Given the description of an element on the screen output the (x, y) to click on. 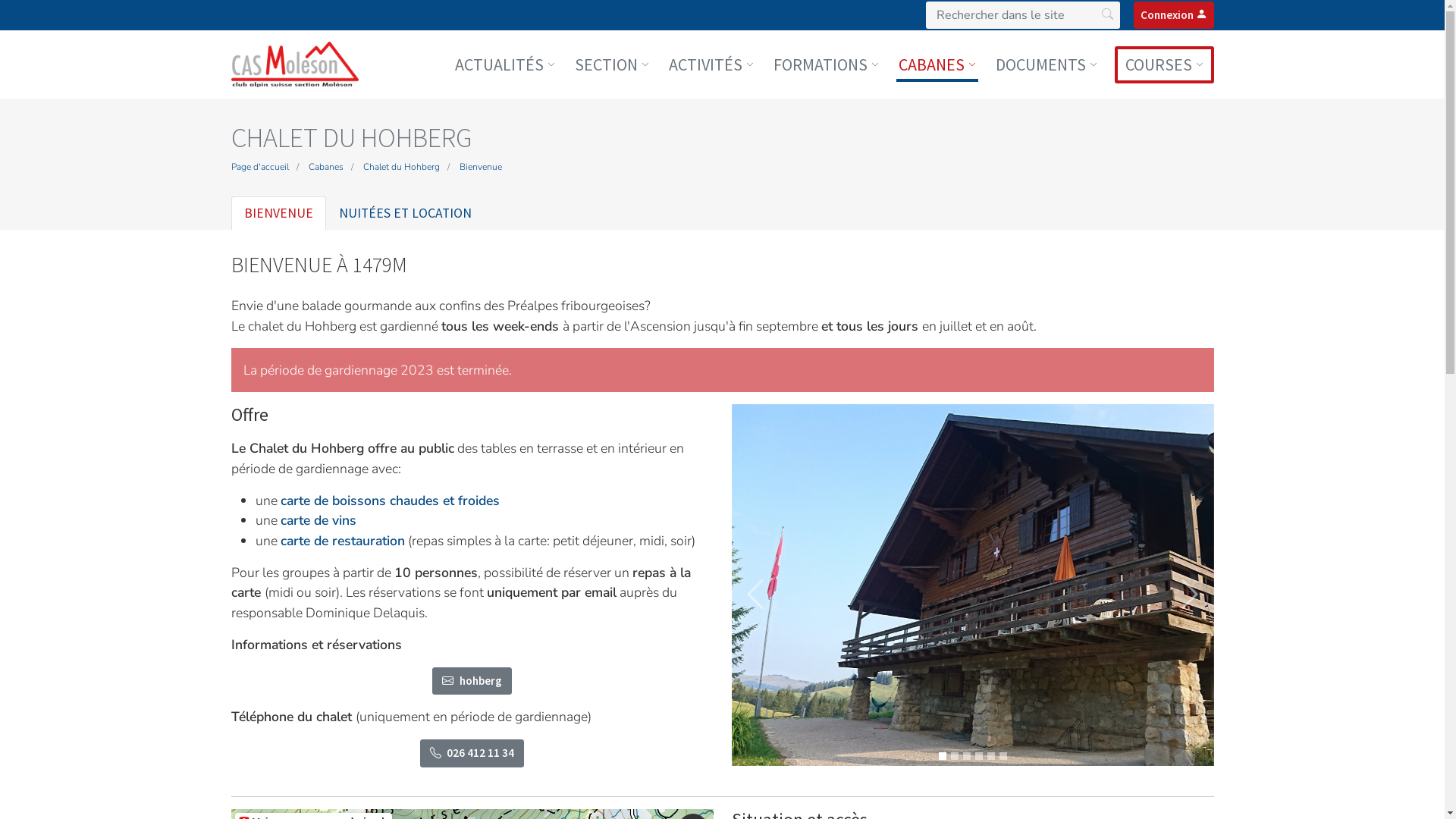
Page d'accueil Element type: text (259, 166)
carte de restauration Element type: text (342, 540)
Chalet du Hohberg Element type: text (400, 166)
CABANES Element type: text (937, 63)
Next Element type: text (1189, 594)
Connexion Element type: text (1172, 14)
SECTION Element type: text (610, 63)
DOCUMENTS Element type: text (1046, 63)
carte de vins Element type: text (318, 520)
FORMATIONS Element type: text (825, 63)
carte de boissons chaudes et froides Element type: text (389, 500)
BIENVENUE Element type: text (277, 212)
hohberg Element type: text (471, 681)
Cabanes Element type: text (324, 166)
Previous Element type: text (755, 594)
COURSES Element type: text (1164, 63)
026 412 11 34 Element type: text (472, 753)
Bienvenue Element type: text (480, 166)
